Given the description of an element on the screen output the (x, y) to click on. 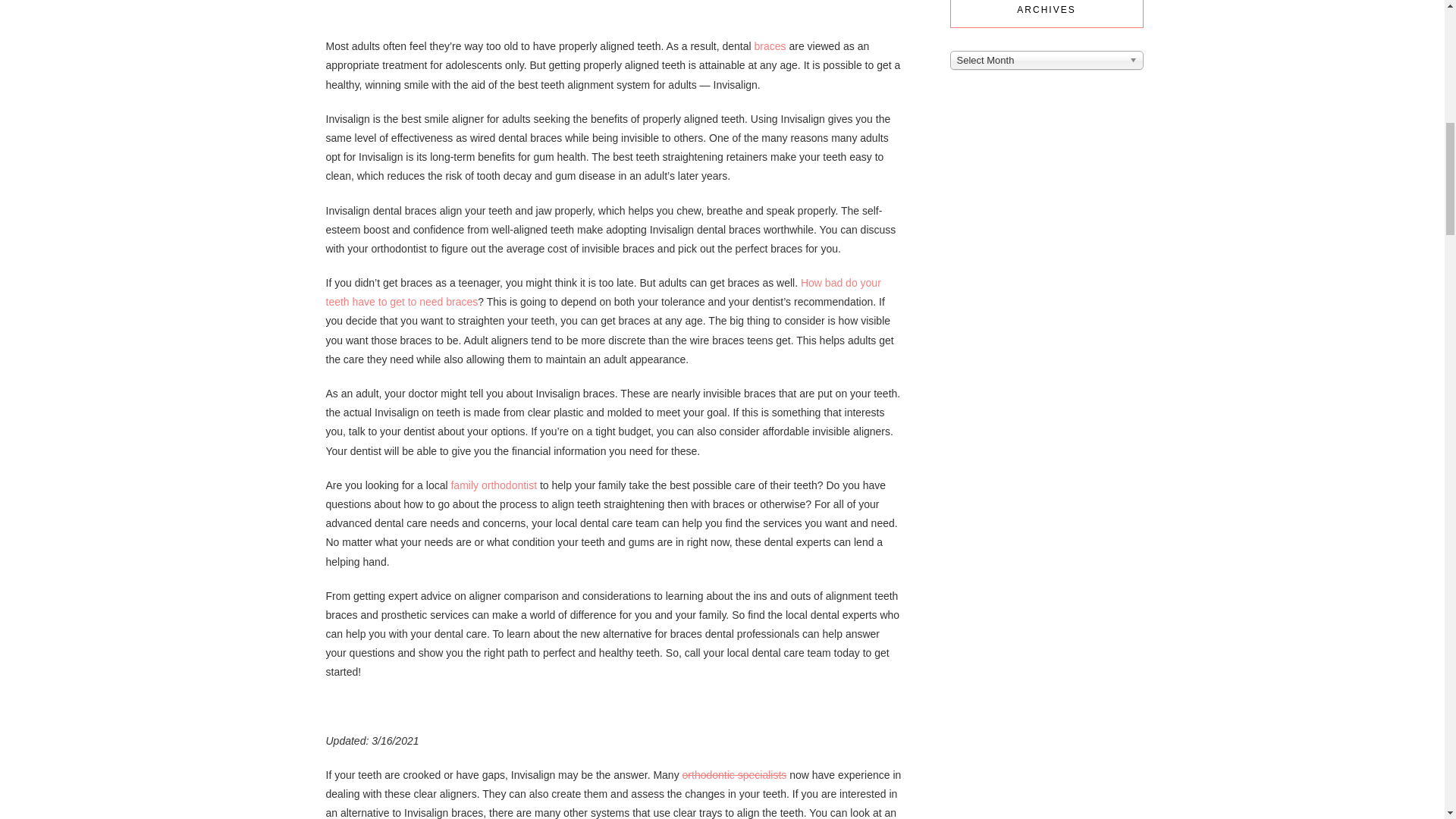
braces (770, 46)
How bad do your teeth have to get to need braces (603, 291)
Select Month (1045, 59)
family orthodontist (493, 485)
orthodontic specialists (734, 775)
